Given the description of an element on the screen output the (x, y) to click on. 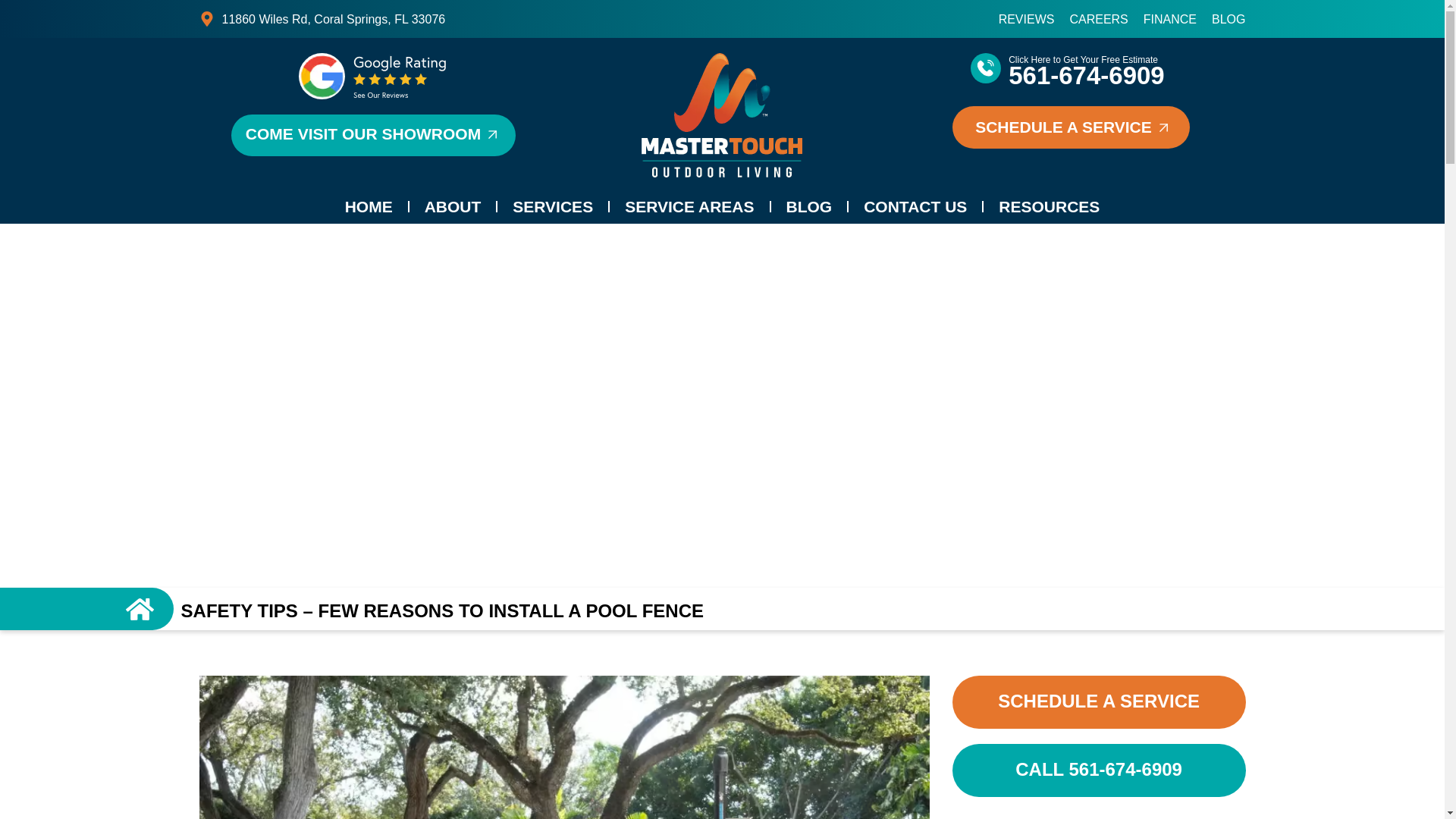
HOME (368, 206)
CAREERS (1097, 19)
561-674-6909 (1086, 75)
FINANCE (1169, 19)
ABOUT (452, 206)
Click Here to Get Your Free Estimate (1083, 59)
SERVICES (552, 206)
SCHEDULE A SERVICE (1070, 127)
COME VISIT OUR SHOWROOM (373, 135)
BLOG (1227, 19)
REVIEWS (1026, 19)
11860 Wiles Rd, Coral Springs, FL 33076 (456, 18)
